Given the description of an element on the screen output the (x, y) to click on. 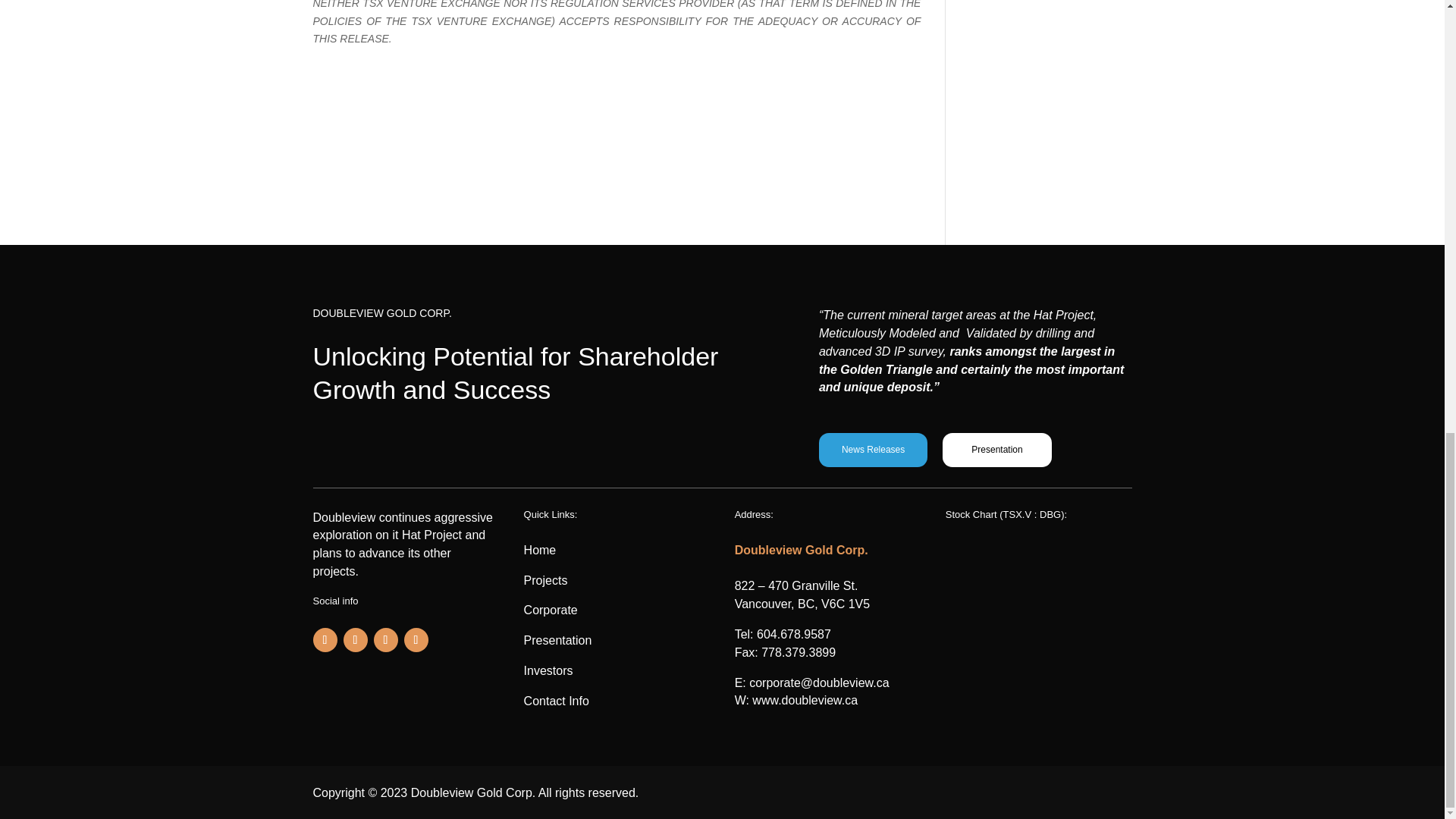
Follow on Youtube (384, 639)
Follow on LinkedIn (415, 639)
Follow on Facebook (324, 639)
Follow on X (354, 639)
